Given the description of an element on the screen output the (x, y) to click on. 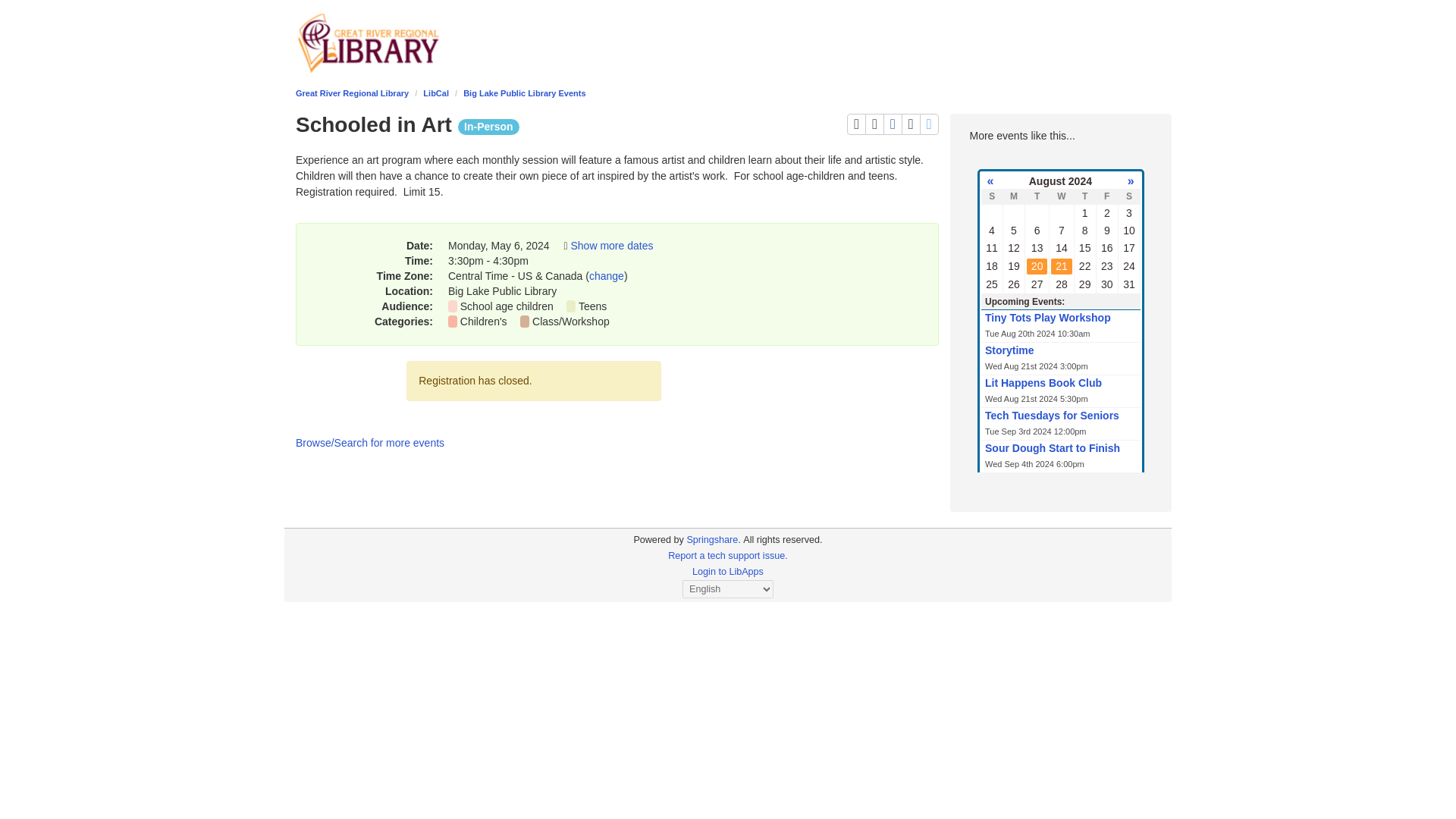
change (606, 275)
Springshare (711, 539)
Login to LibApps (727, 571)
Report a tech support issue. (929, 124)
Great River Regional Library LibCal (727, 555)
libcal-us-2 (727, 40)
Show more dates (658, 539)
Print the page (611, 245)
